Given the description of an element on the screen output the (x, y) to click on. 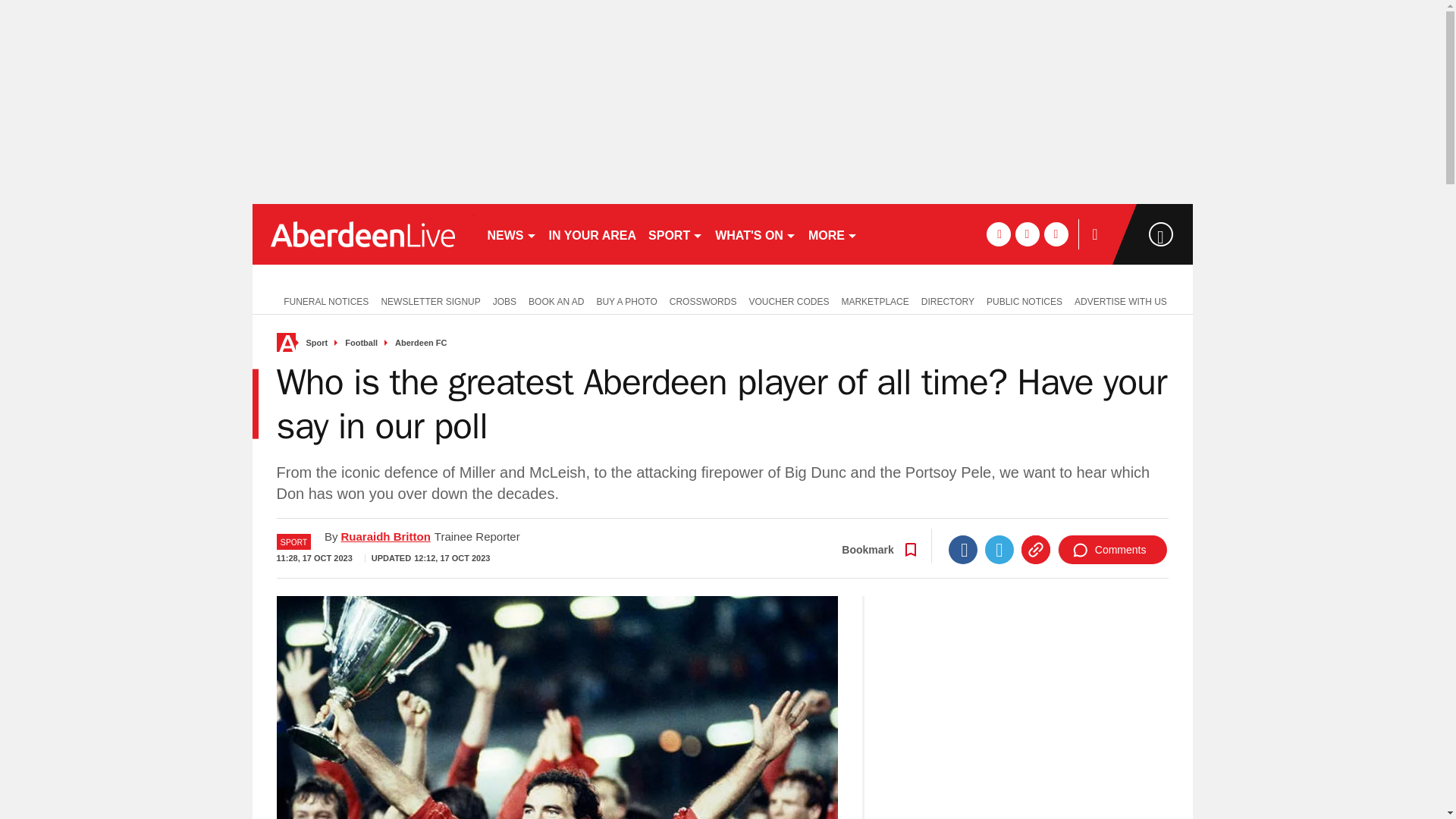
FUNERAL NOTICES (322, 300)
BUY A PHOTO (625, 300)
SPORT (675, 233)
BOOK AN AD (555, 300)
WHAT'S ON (755, 233)
CROSSWORDS (702, 300)
Twitter (999, 549)
facebook (997, 233)
twitter (1026, 233)
instagram (1055, 233)
MORE (832, 233)
NEWSLETTER SIGNUP (430, 300)
NEWS (510, 233)
Comments (1112, 549)
IN YOUR AREA (593, 233)
